Given the description of an element on the screen output the (x, y) to click on. 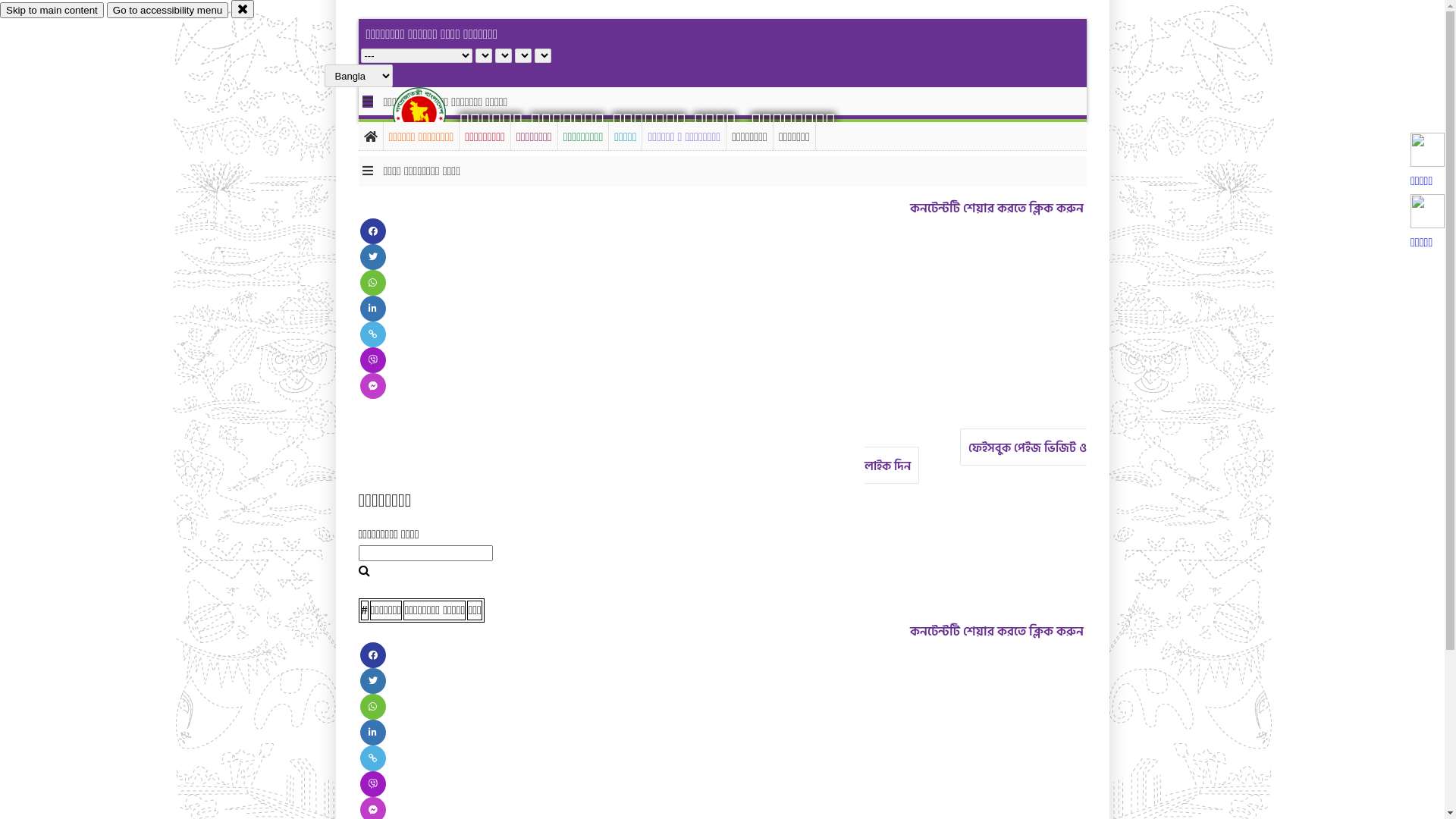
close Element type: hover (242, 9)
Skip to main content Element type: text (51, 10)

                
             Element type: hover (431, 112)
Go to accessibility menu Element type: text (167, 10)
